Given the description of an element on the screen output the (x, y) to click on. 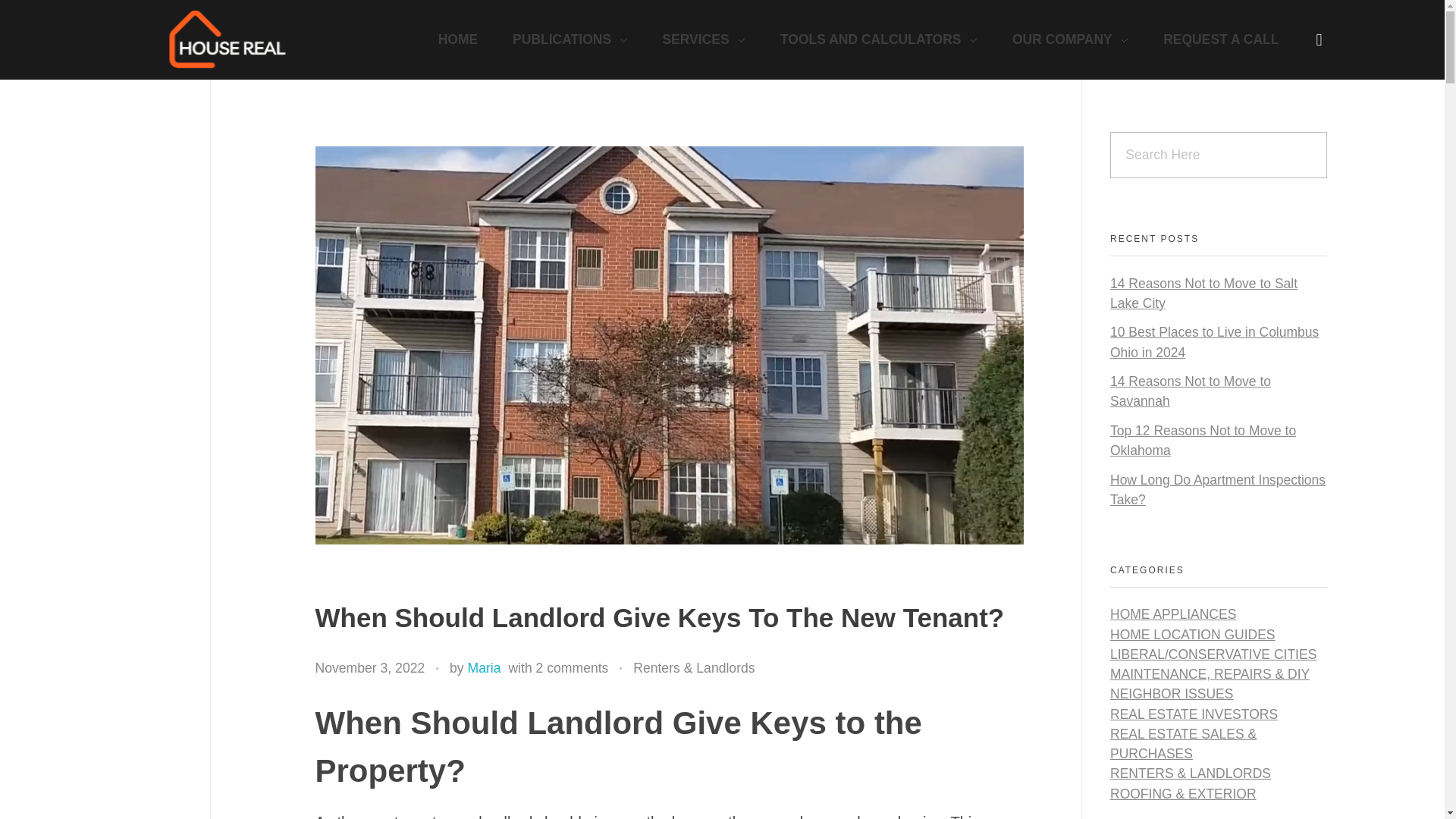
Top 12 Reasons Not to Move to Oklahoma (1202, 440)
PUBLICATIONS (570, 39)
View all posts by Maria (483, 667)
OUR COMPANY (1069, 39)
How Long Do Apartment Inspections Take? (1216, 489)
Search (47, 14)
TOOLS AND CALCULATORS (878, 39)
14 Reasons Not to Move to Savannah (1190, 390)
HOME (466, 39)
SERVICES (703, 39)
Maria (483, 667)
14 Reasons Not to Move to Salt Lake City (1203, 293)
10 Best Places to Live in Columbus Ohio in 2024 (1214, 341)
REQUEST A CALL (1211, 39)
